Given the description of an element on the screen output the (x, y) to click on. 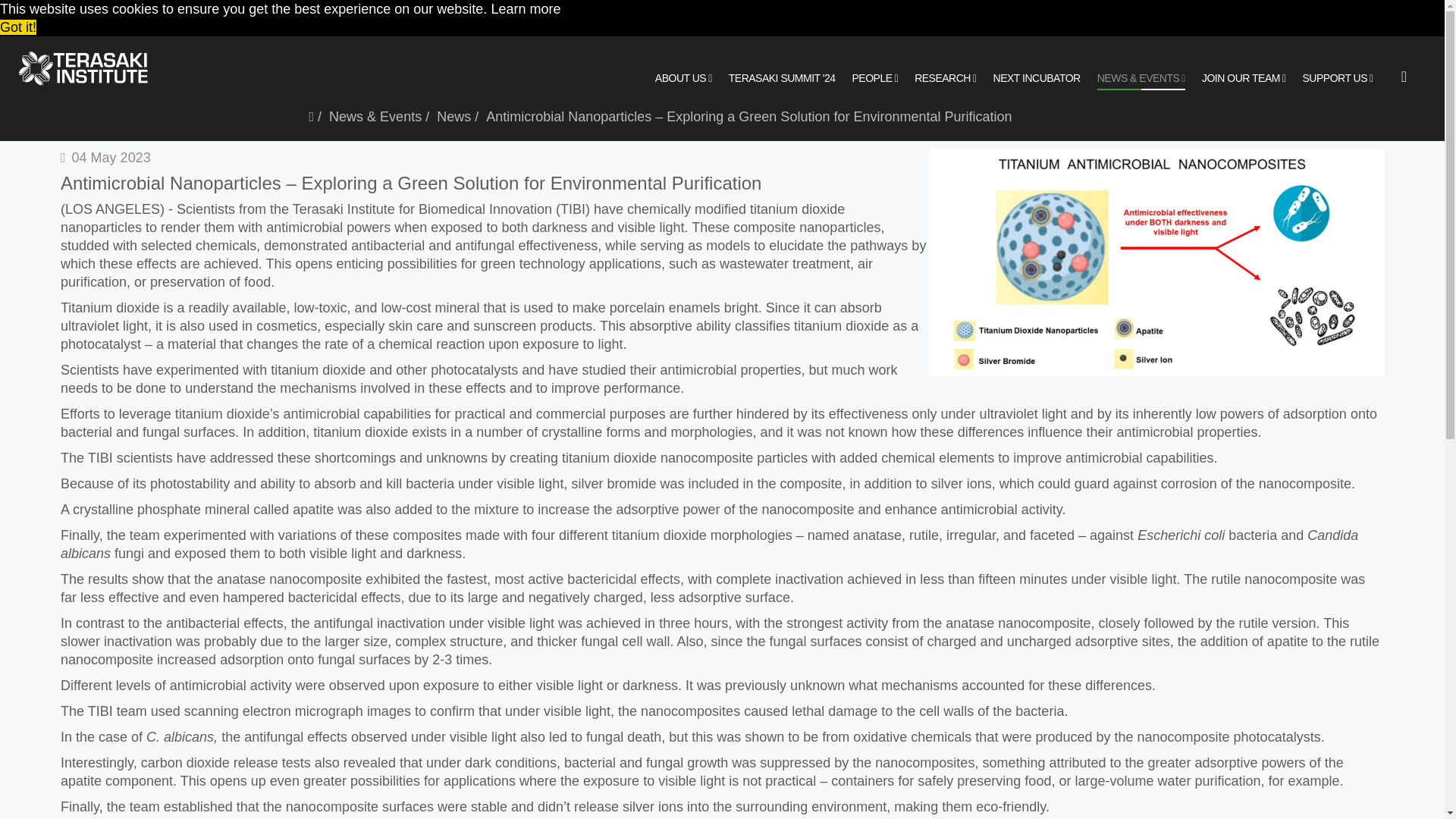
Got it! (18, 27)
TERASAKI SUMMIT '24 (782, 78)
Learn more (525, 8)
RESEARCH (944, 78)
